Given the description of an element on the screen output the (x, y) to click on. 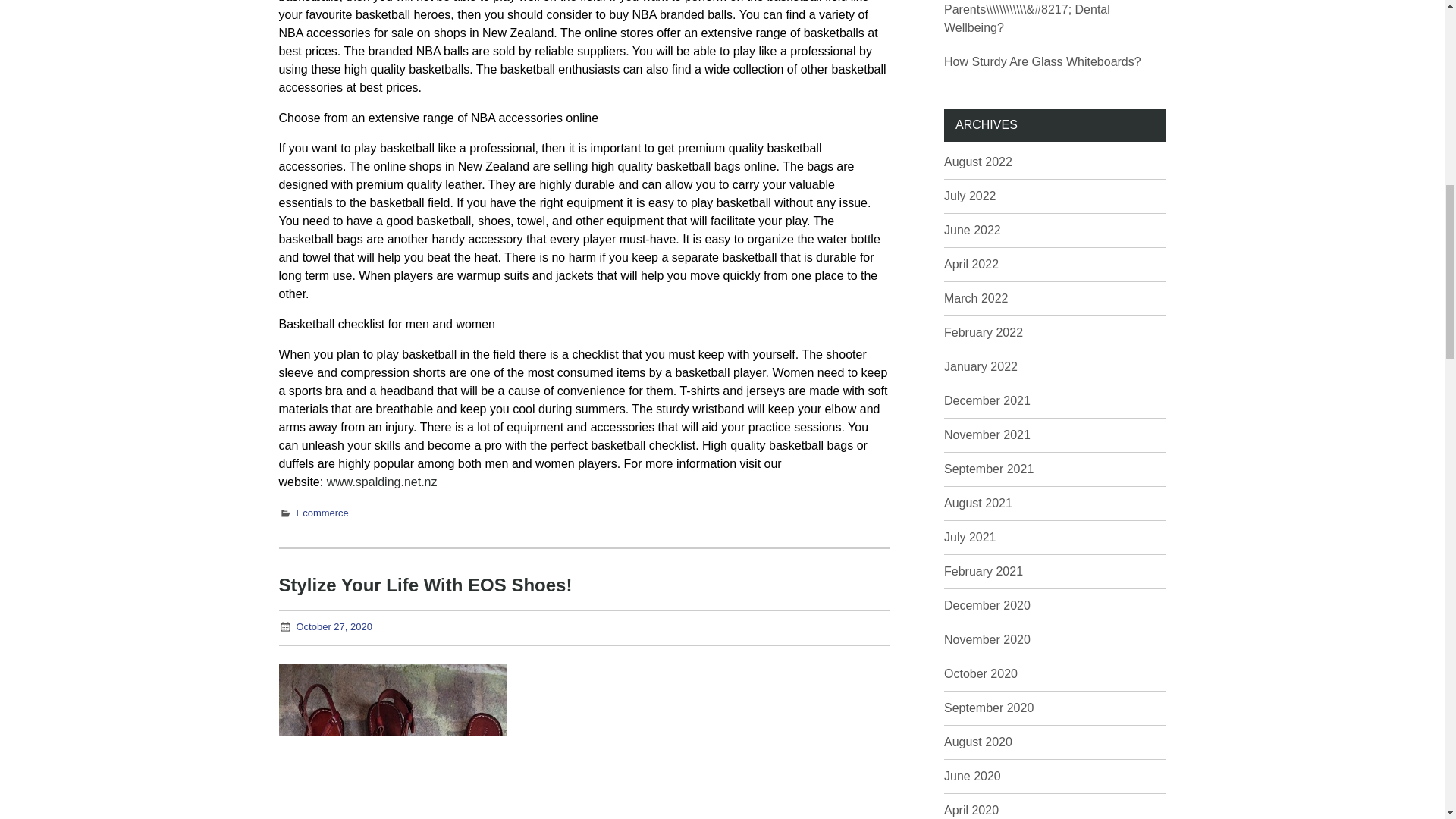
January 2022 (980, 366)
July 2021 (969, 536)
June 2022 (972, 229)
April 2022 (970, 264)
How Sturdy Are Glass Whiteboards? (1042, 61)
August 2021 (977, 502)
November 2021 (986, 434)
December 2020 (986, 604)
September 2021 (988, 468)
Stylize Your Life With EOS Shoes! (425, 584)
www.spalding.net.nz (382, 481)
October 27, 2020 (333, 626)
February 2022 (983, 332)
December 2021 (986, 400)
Ecommerce (321, 512)
